Given the description of an element on the screen output the (x, y) to click on. 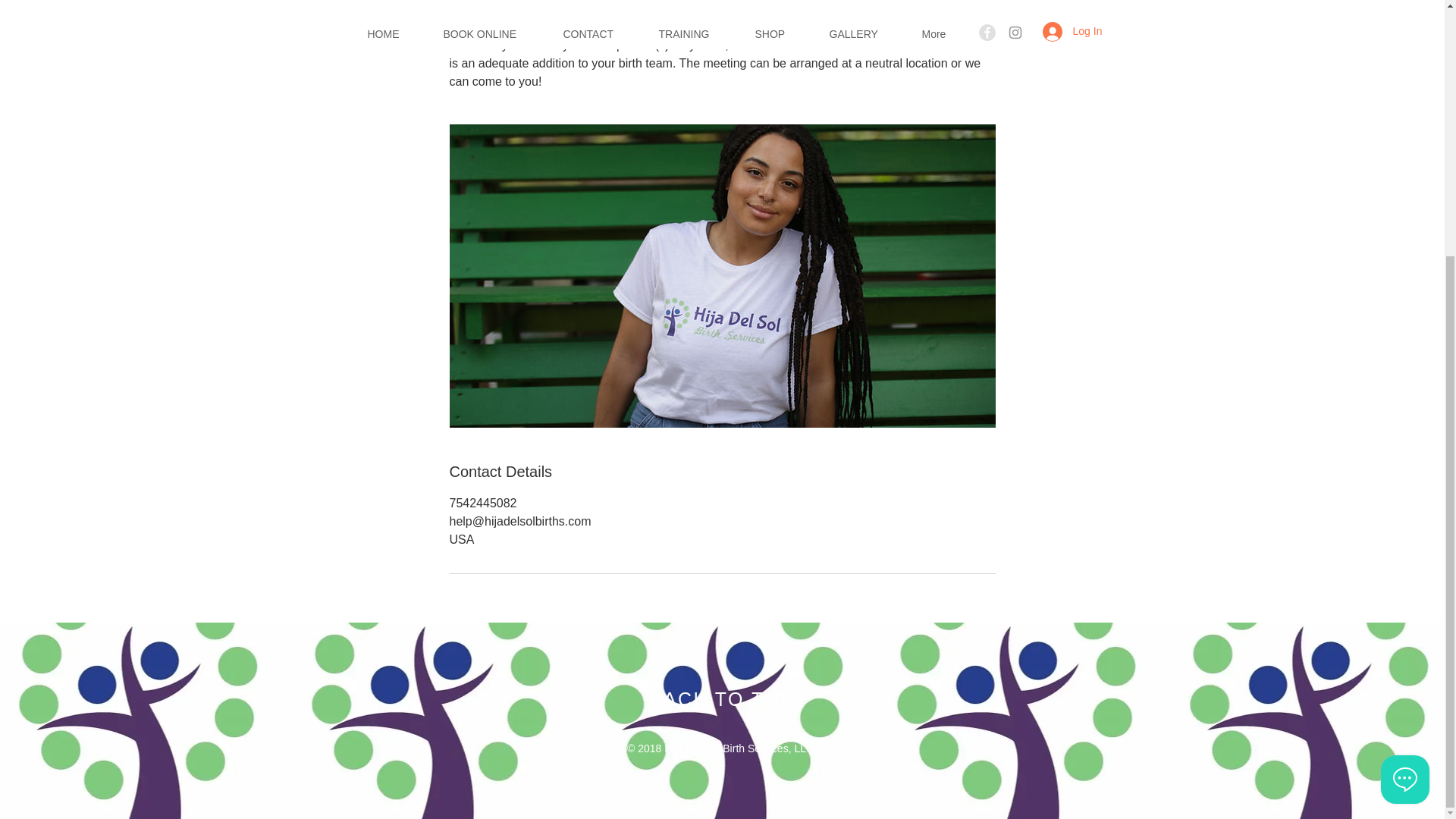
BACK TO TOP (722, 699)
